Given the description of an element on the screen output the (x, y) to click on. 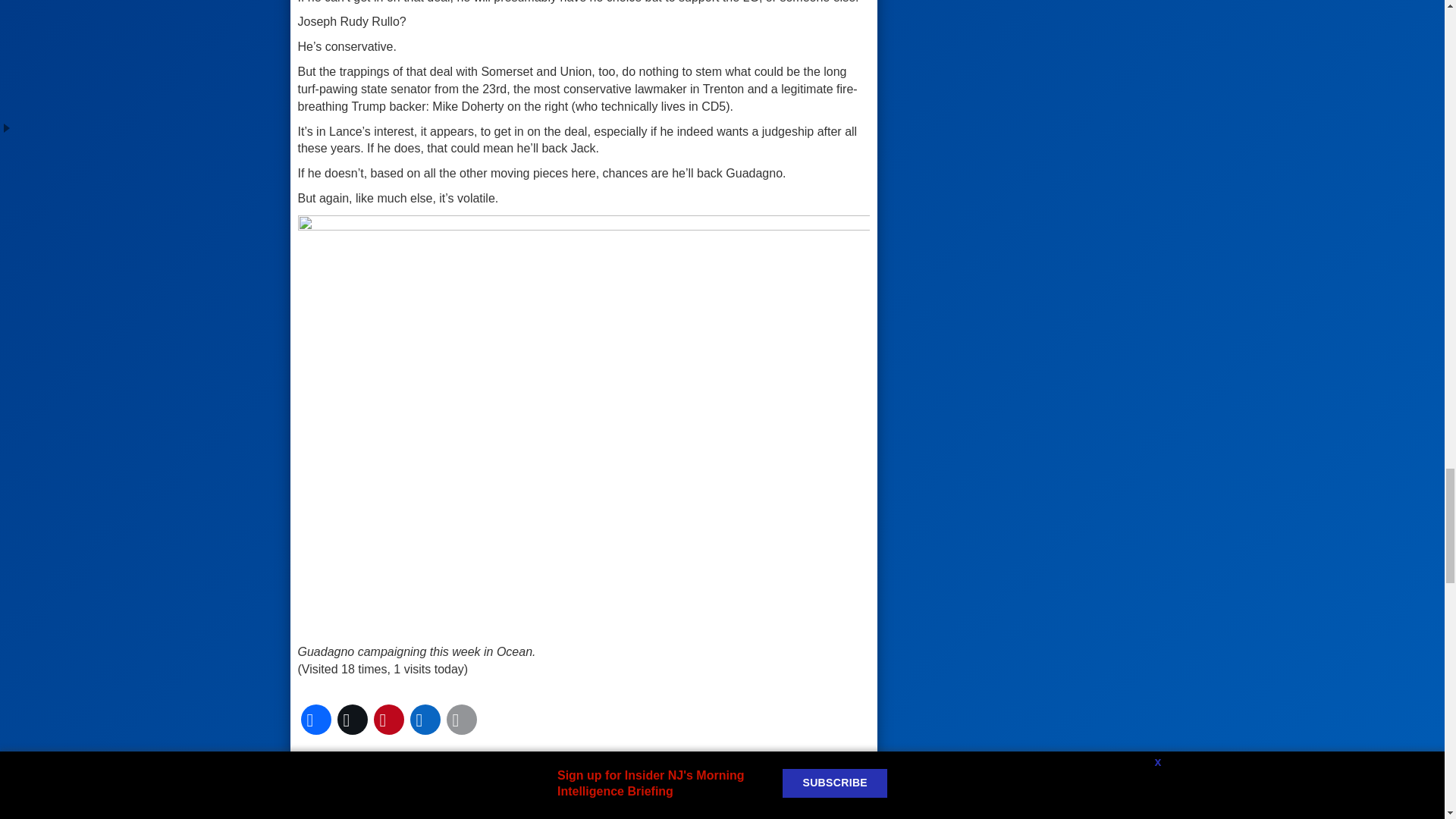
Leonard Lance (346, 802)
Chris Christie (596, 775)
CD7 (533, 775)
Jack Ciattarelli (687, 775)
Branchburg (475, 775)
Kim Guadagno (780, 775)
Al Gaburo (400, 775)
